Given the description of an element on the screen output the (x, y) to click on. 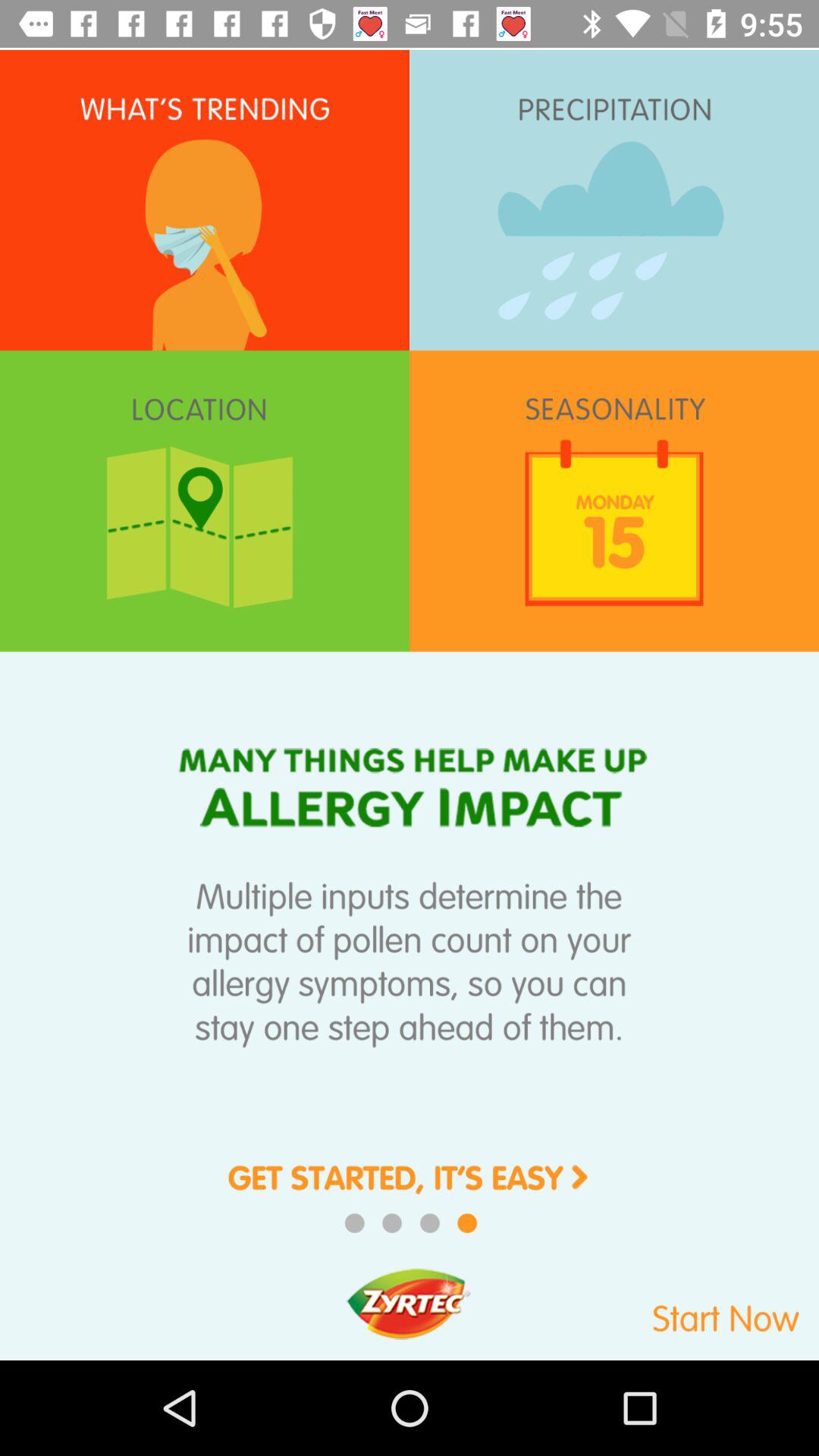
opens product page (409, 1188)
